Given the description of an element on the screen output the (x, y) to click on. 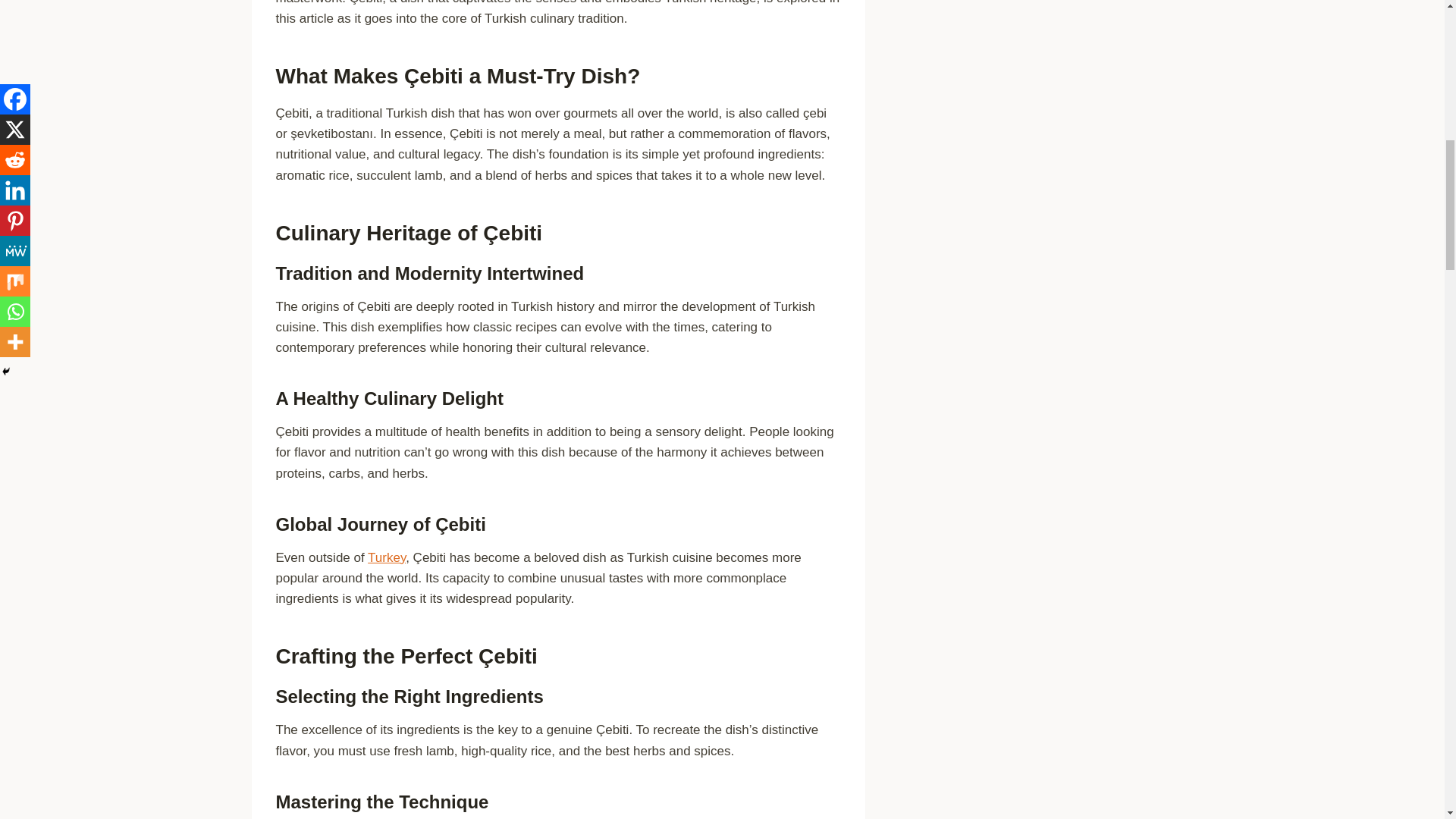
Turkey (387, 557)
